Given the description of an element on the screen output the (x, y) to click on. 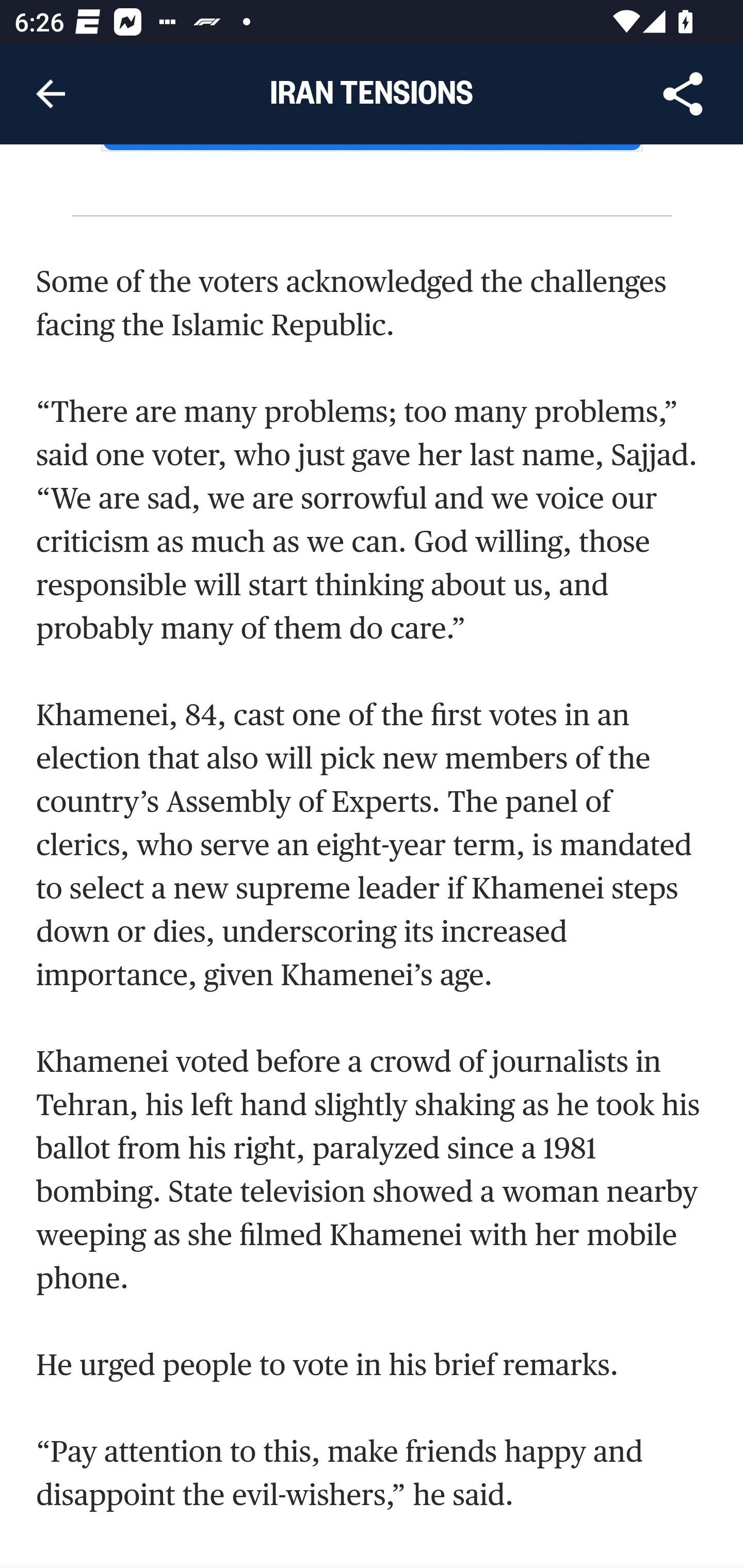
Navigate up (50, 93)
Share Article, button (683, 94)
